Given the description of an element on the screen output the (x, y) to click on. 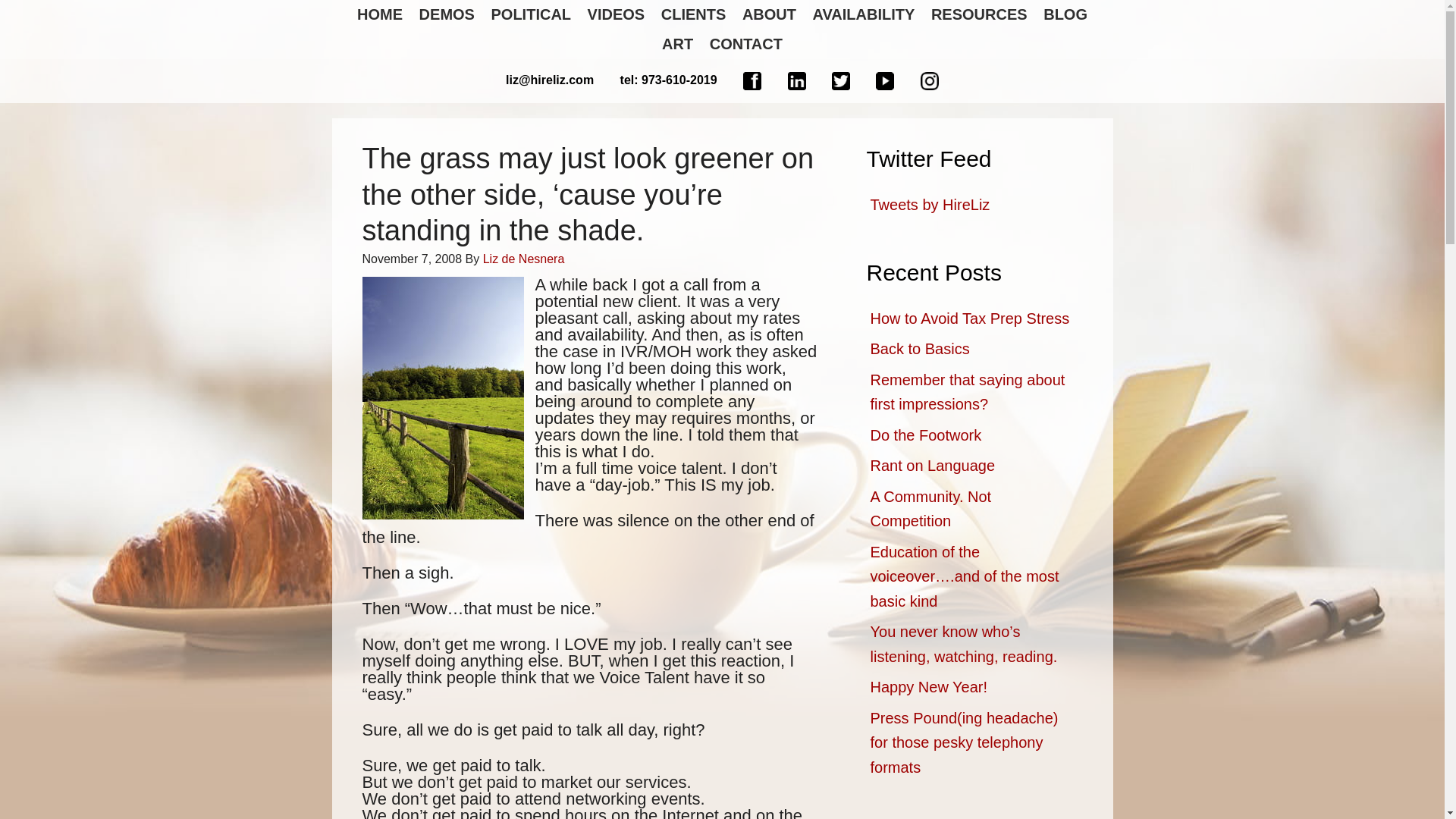
POLITICAL (531, 14)
tel: 973-610-2019 (668, 80)
RESOURCES (978, 14)
ART (677, 43)
CONTACT (746, 43)
BLOG (1064, 14)
VIDEOS (615, 14)
Liz de Nesnera (523, 257)
DEMOS (446, 14)
CLIENTS (693, 14)
